Given the description of an element on the screen output the (x, y) to click on. 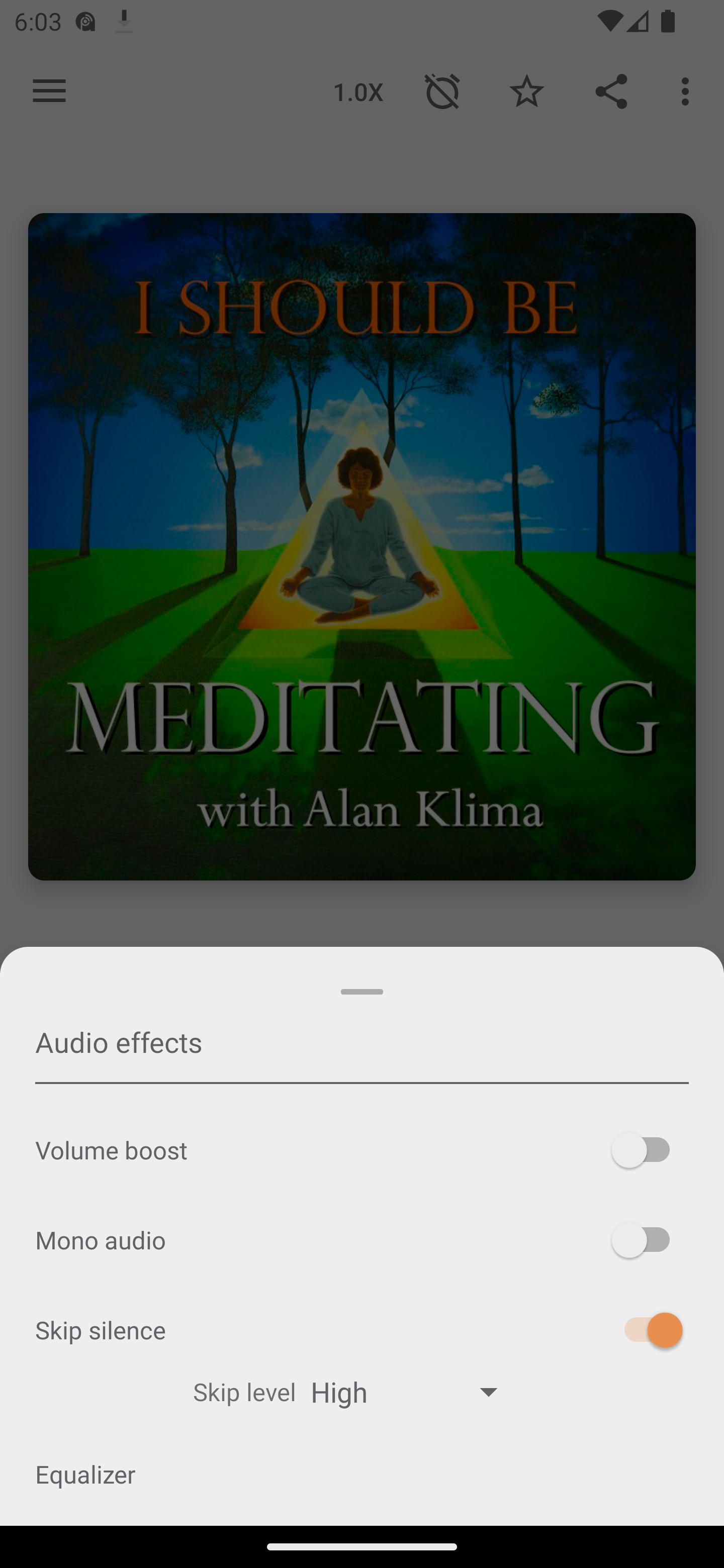
Volume boost (361, 1149)
Mono audio (361, 1239)
Skip silence (361, 1329)
High (413, 1391)
Equalizer (361, 1473)
